Given the description of an element on the screen output the (x, y) to click on. 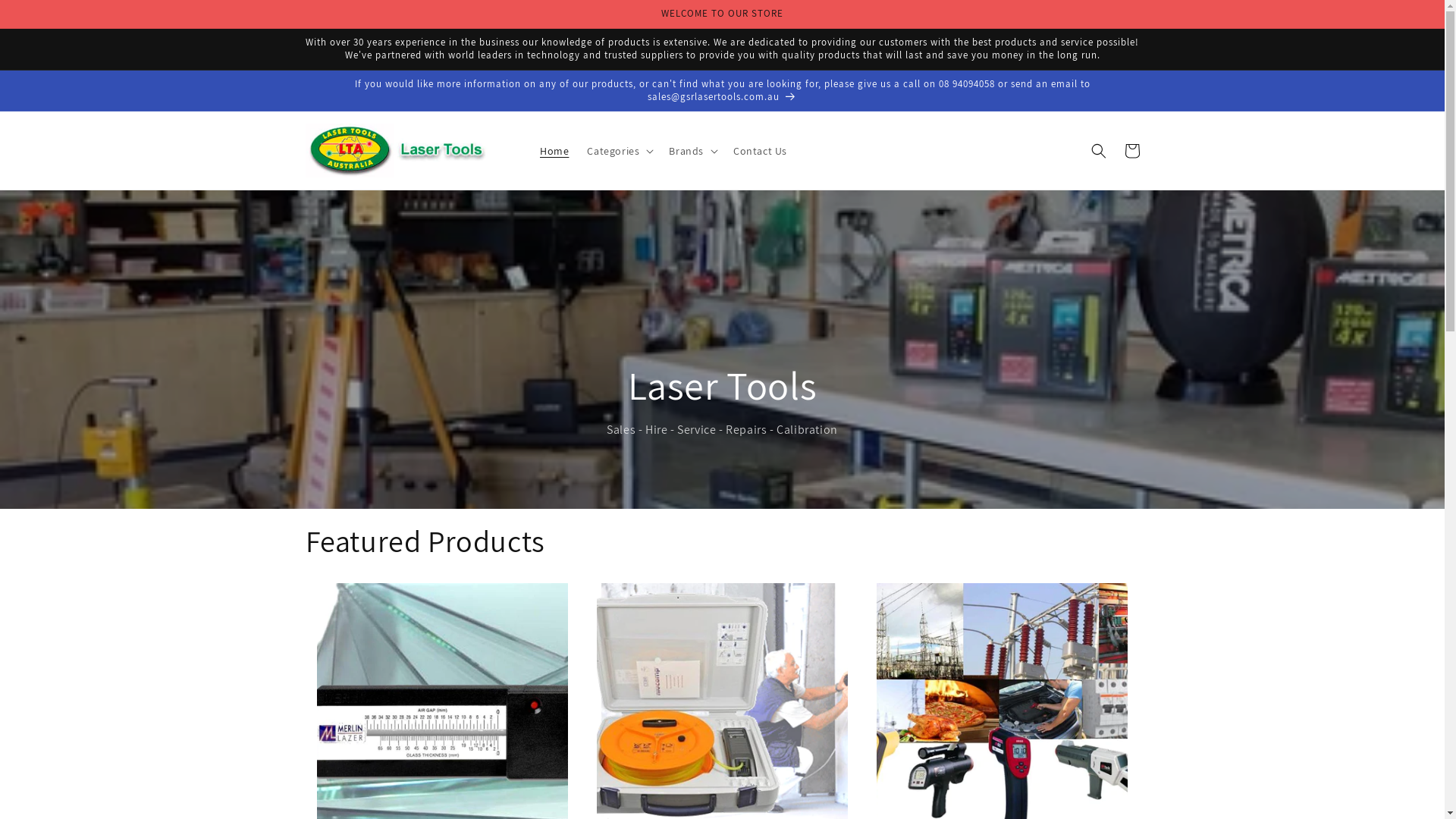
Home Element type: text (553, 150)
Cart Element type: text (1131, 150)
Contact Us Element type: text (760, 150)
